Given the description of an element on the screen output the (x, y) to click on. 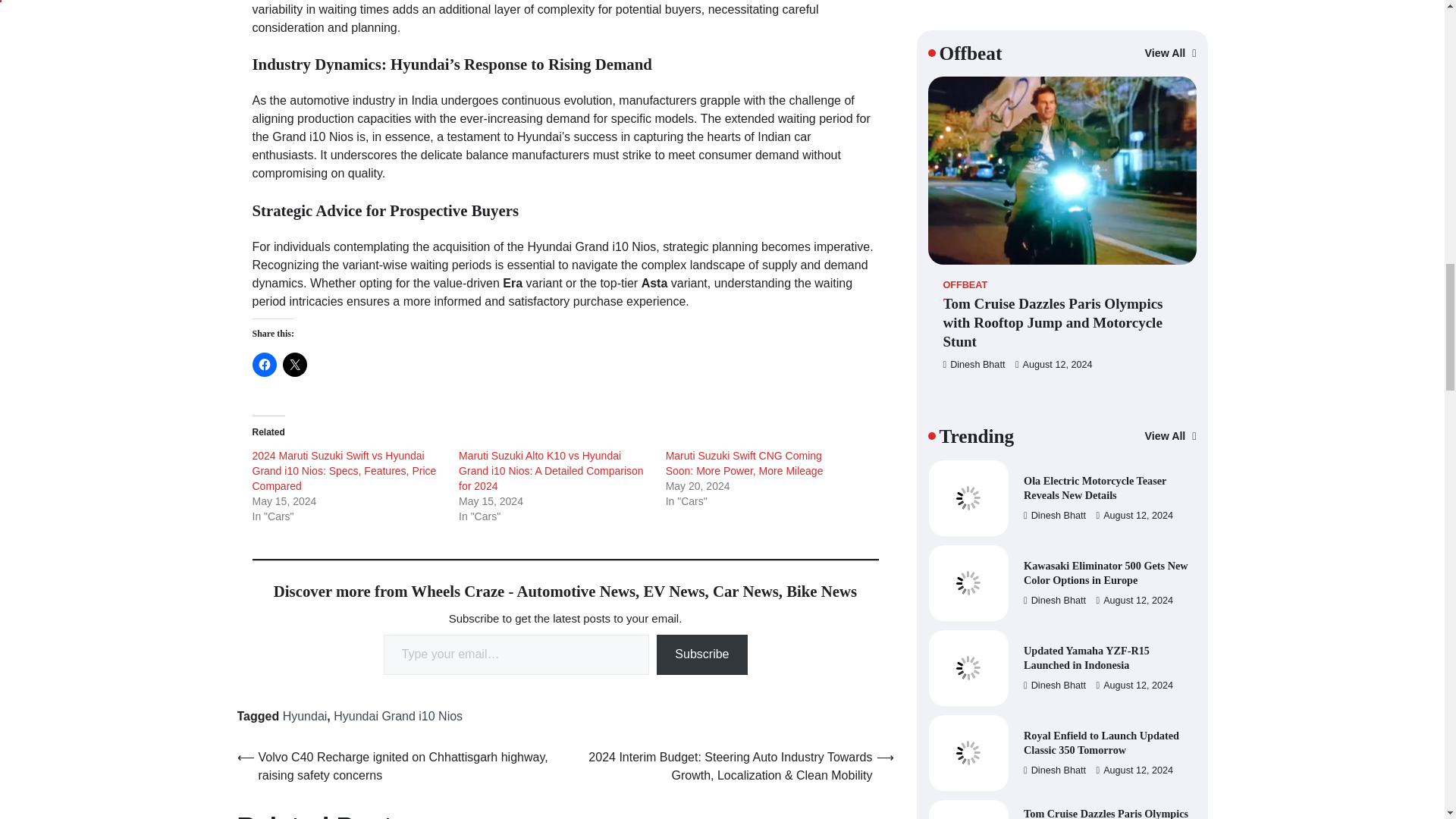
Click to share on X (293, 364)
Hyundai (304, 716)
Hyundai Grand i10 Nios (398, 716)
Subscribe (701, 654)
